Given the description of an element on the screen output the (x, y) to click on. 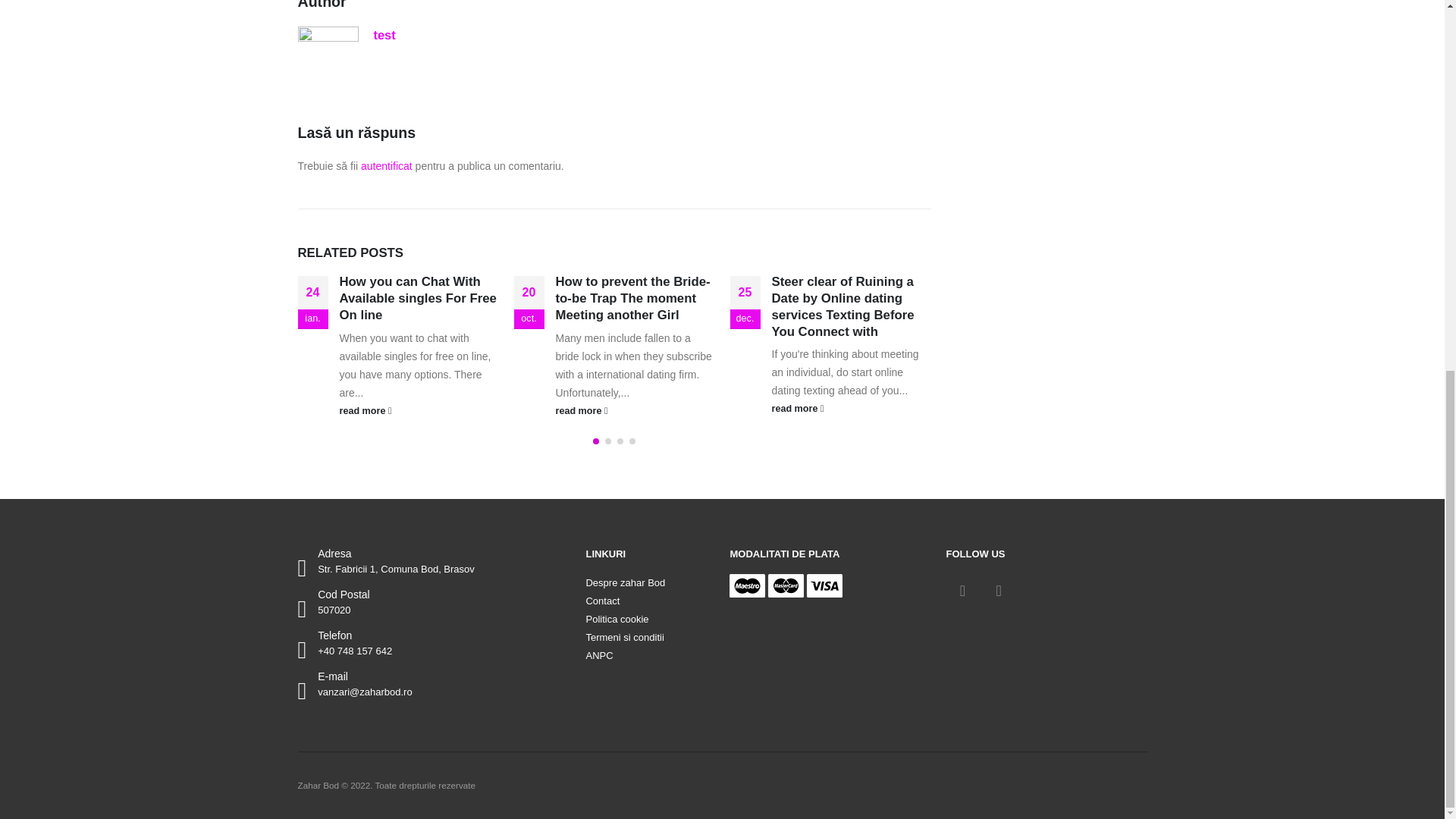
read more (419, 410)
Instagram (998, 590)
read more (851, 408)
autentificat (386, 165)
How you can Chat With Available singles For Free On line (417, 298)
test (383, 34)
Facebook (961, 590)
Articole de test (383, 34)
